Given the description of an element on the screen output the (x, y) to click on. 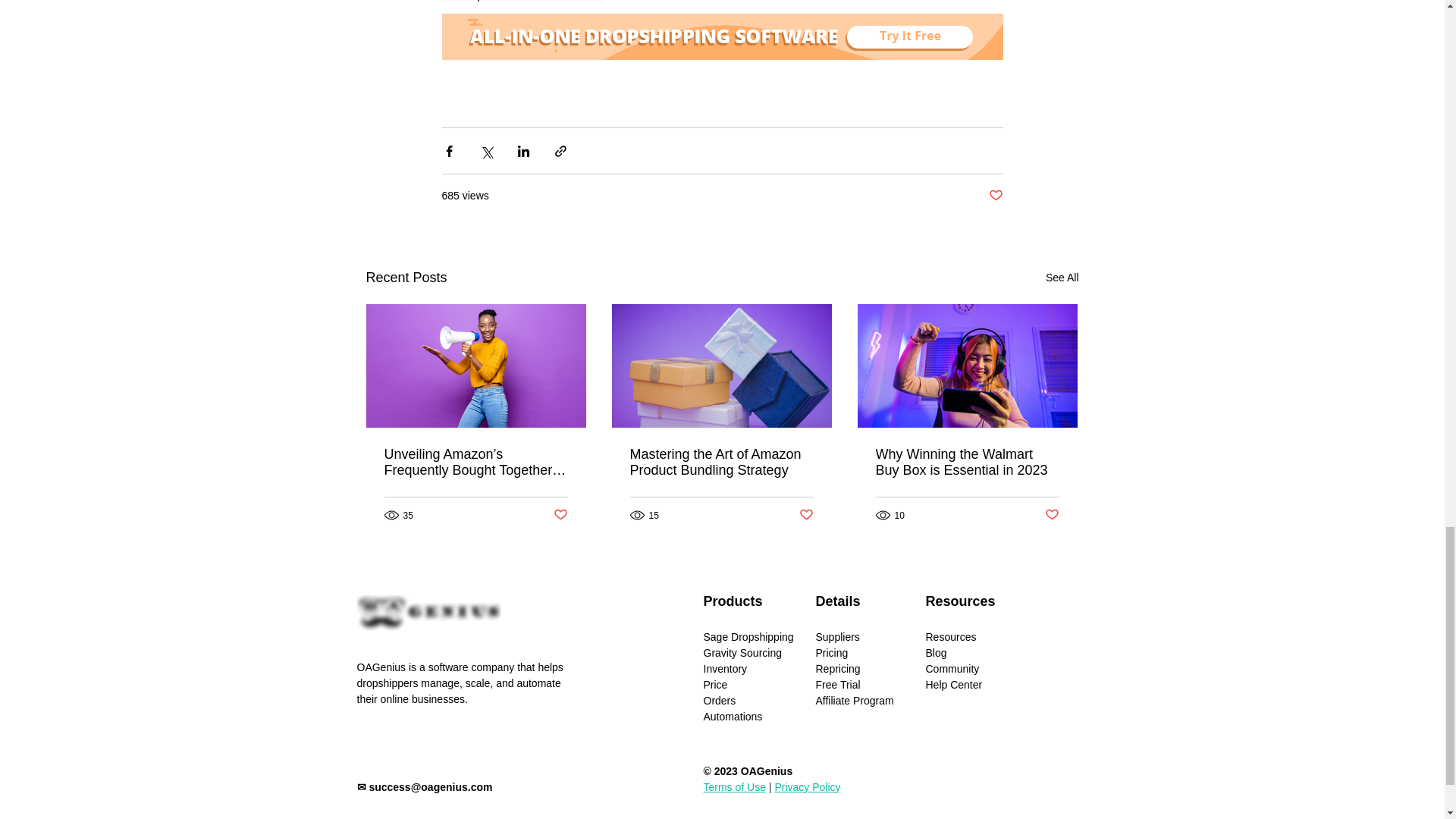
Inventory (725, 668)
Orders (719, 700)
Sage Dropshipping (748, 636)
Post not marked as liked (995, 195)
Post not marked as liked (806, 514)
Automations (732, 716)
Gravity Sourcing (742, 653)
Mastering the Art of Amazon Product Bundling Strategy (720, 462)
Price (715, 684)
See All (1061, 277)
